Given the description of an element on the screen output the (x, y) to click on. 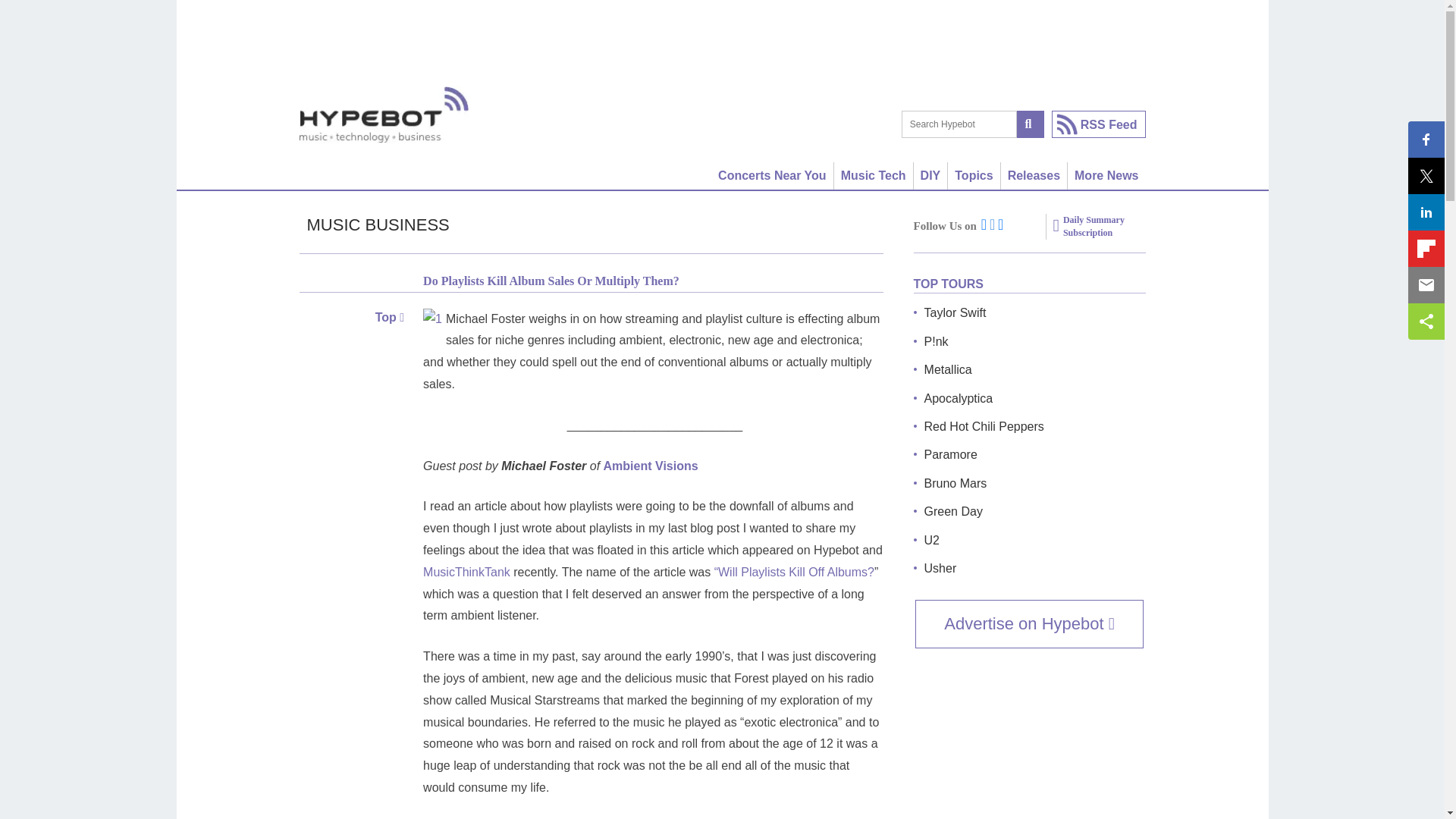
RSS Feed (1098, 124)
1 (432, 319)
Music Tech (874, 175)
Concerts Near You (772, 175)
DIY (931, 175)
Topics (973, 175)
View all posts in Music Business (377, 224)
